Given the description of an element on the screen output the (x, y) to click on. 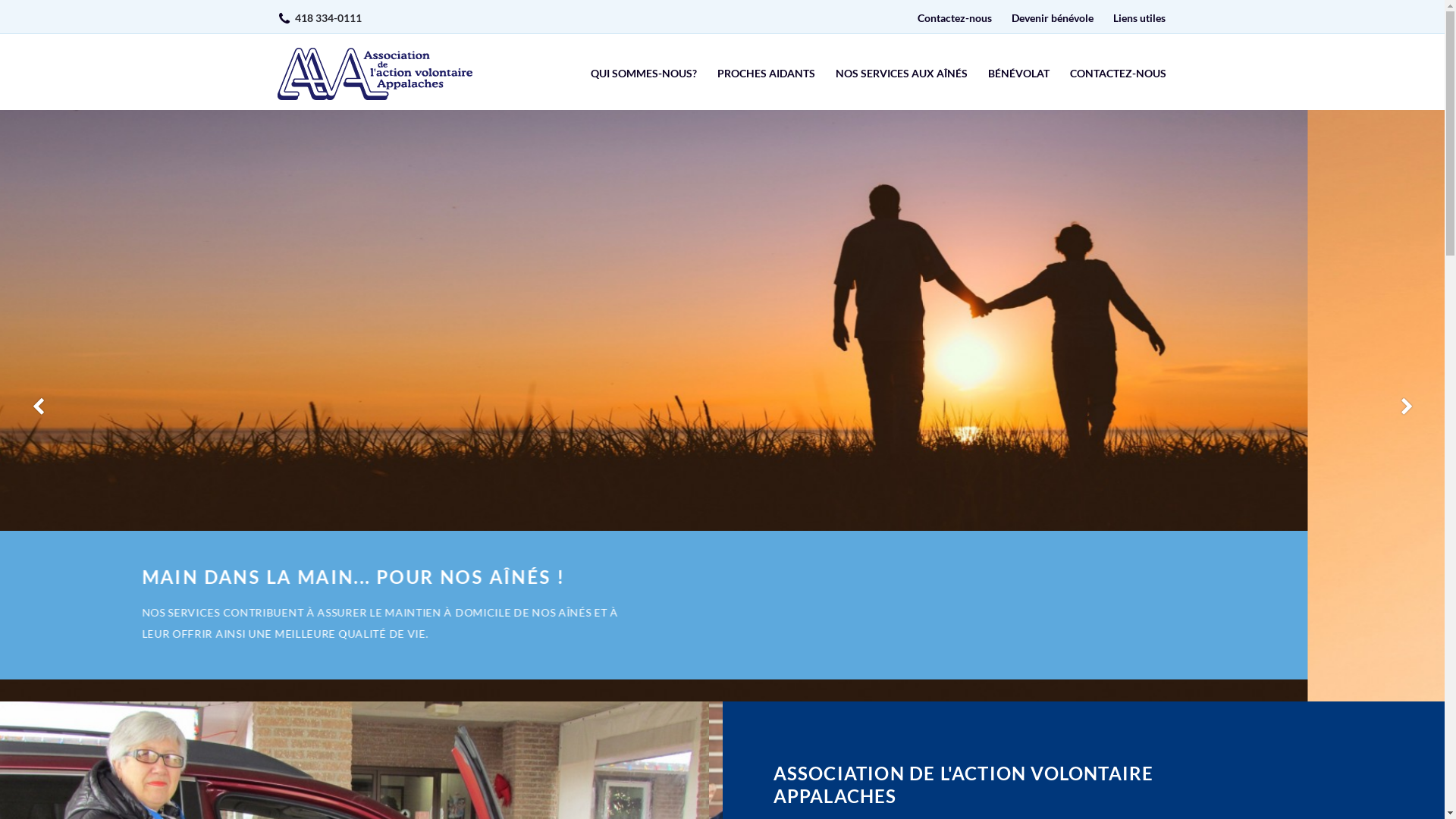
QUI SOMMES-NOUS? Element type: text (642, 73)
Liens utiles Element type: text (1139, 17)
PROCHES AIDANTS Element type: text (766, 73)
Association de l'Action Volontaire Appalaches Element type: hover (374, 73)
418 334-0111 Element type: text (327, 17)
Contactez-nous Element type: text (954, 17)
CONTACTEZ-NOUS Element type: text (1117, 73)
